Given the description of an element on the screen output the (x, y) to click on. 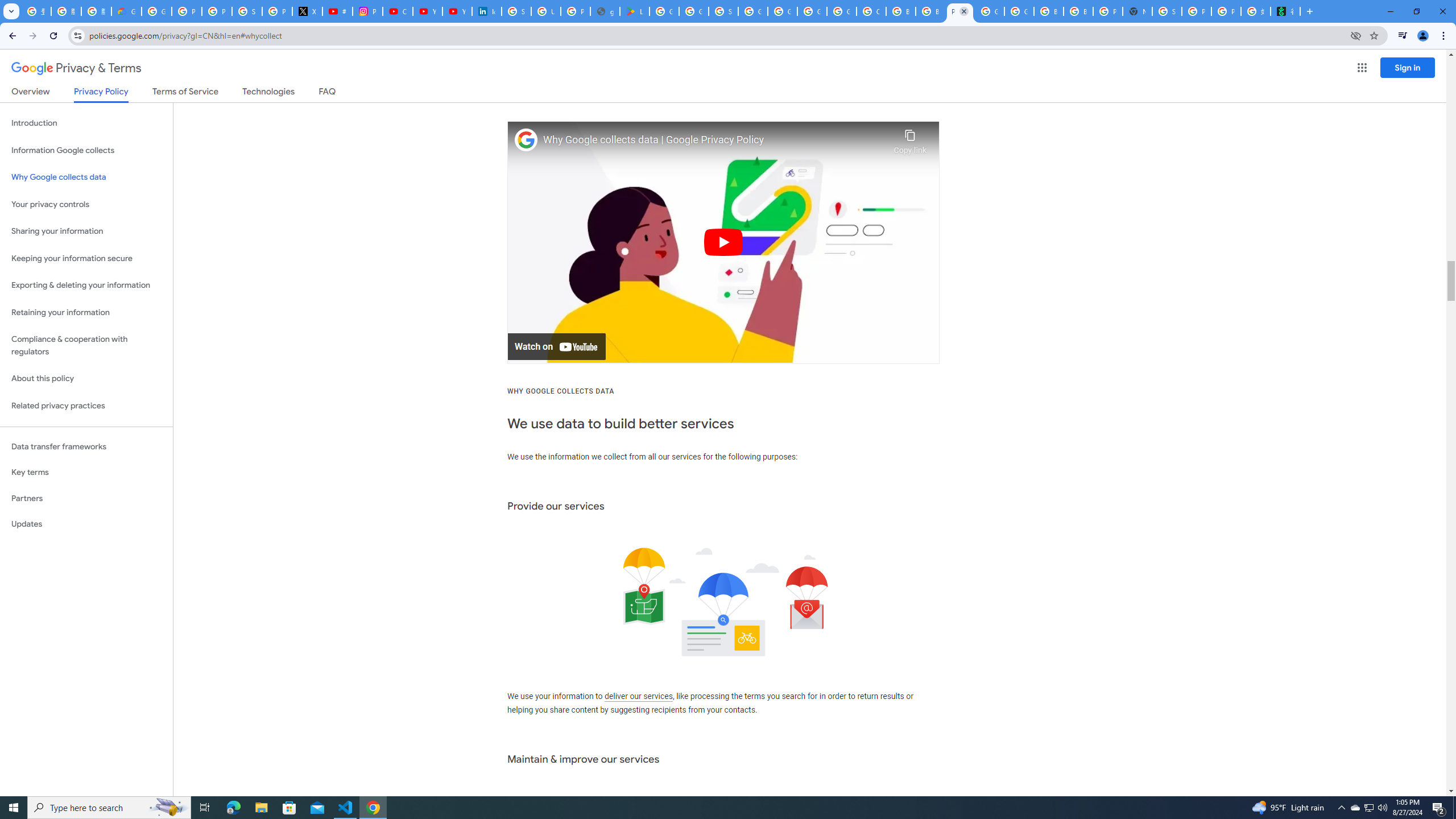
Play (723, 242)
Google Cloud Platform (1018, 11)
Why Google collects data | Google Privacy Policy (715, 140)
Privacy Help Center - Policies Help (216, 11)
google_privacy_policy_en.pdf (604, 11)
YouTube Culture & Trends - YouTube Top 10, 2021 (456, 11)
